Given the description of an element on the screen output the (x, y) to click on. 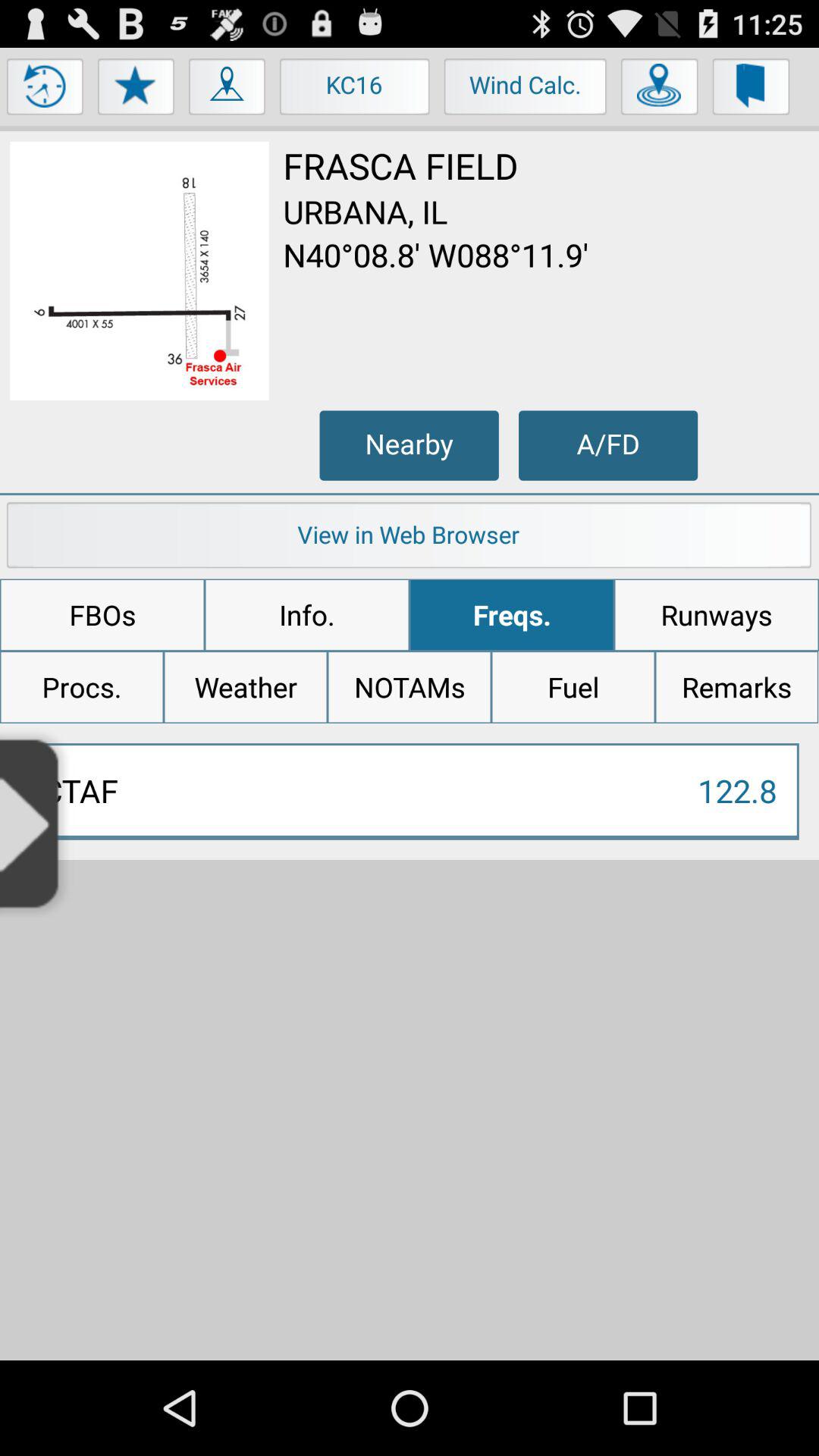
map (139, 270)
